Given the description of an element on the screen output the (x, y) to click on. 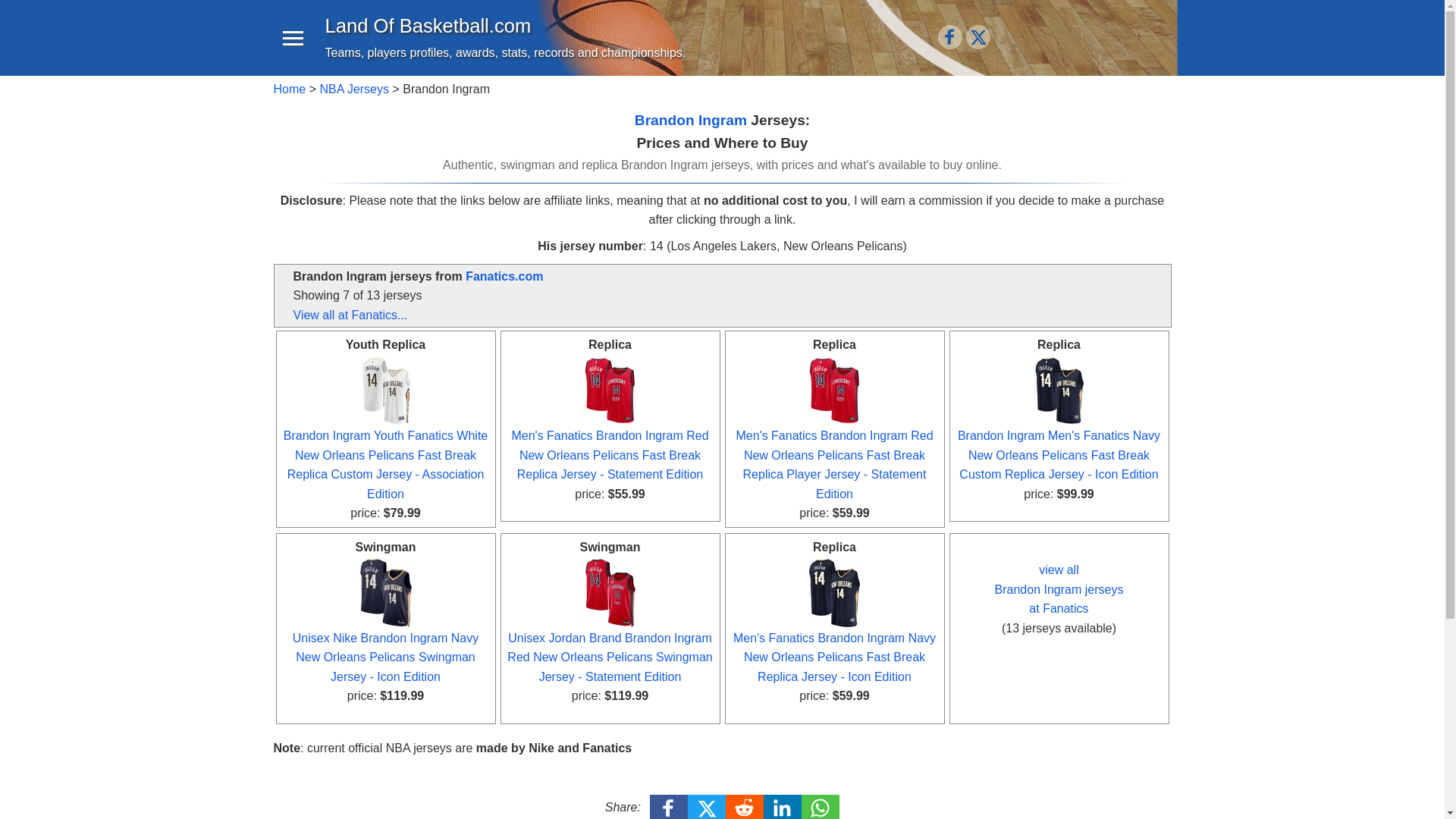
Facebook (948, 37)
Reddit (744, 806)
WhatsApp (820, 806)
Land Of Basketball.com (427, 25)
LinkedIn (782, 806)
Facebook (948, 37)
Facebook (668, 806)
